Given the description of an element on the screen output the (x, y) to click on. 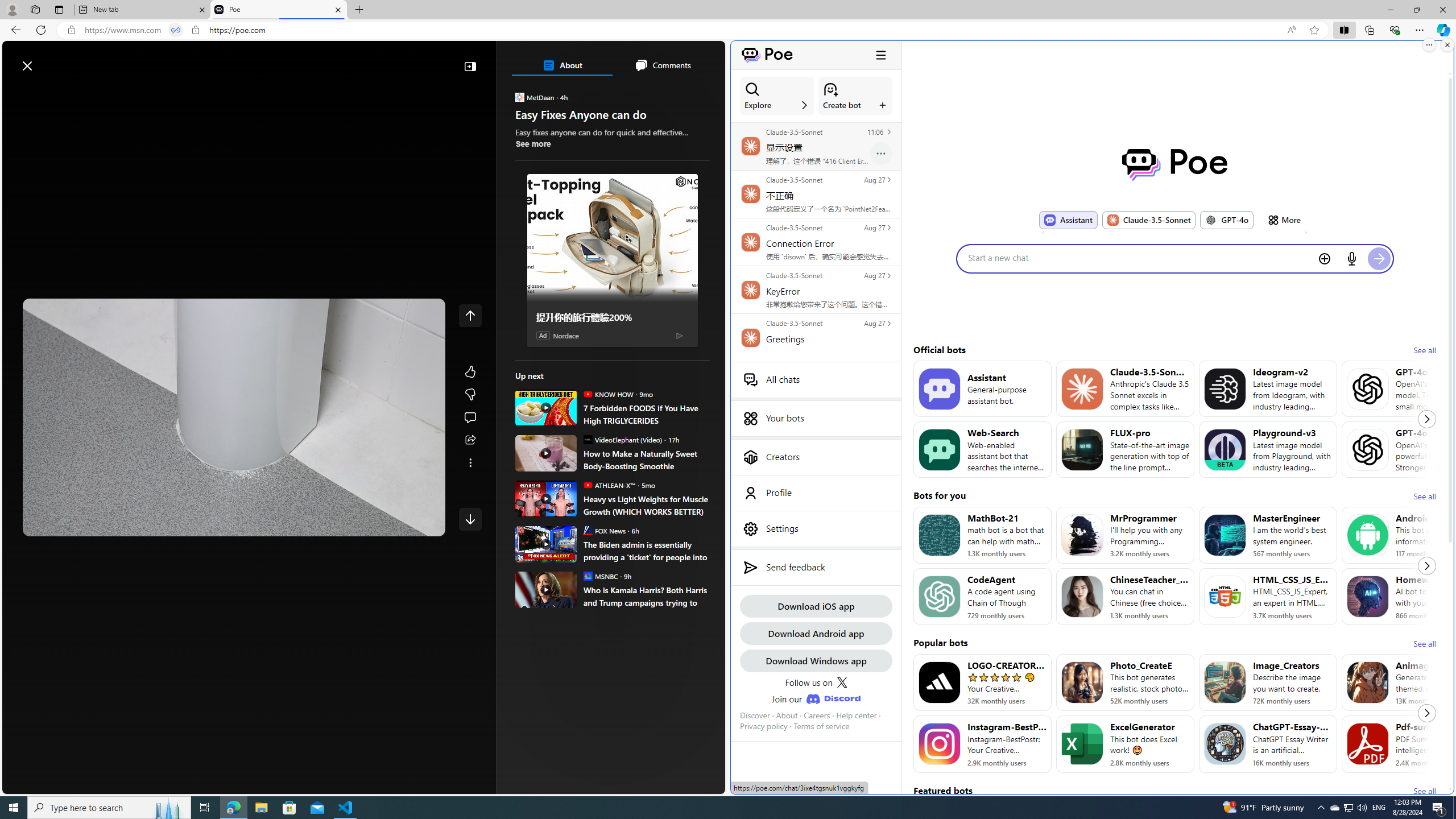
Summer Sale! Up to -55% (616, 515)
Poe (277, 9)
Join our (815, 698)
Terms of service (821, 726)
Class: ToggleSidebarCollapseButton_hamburgerIcon__VuiyV (880, 55)
Fullscreen (405, 523)
Class: ManageBotsCardSection_labelIcon__EjW_j (882, 104)
Help center (855, 714)
